Given the description of an element on the screen output the (x, y) to click on. 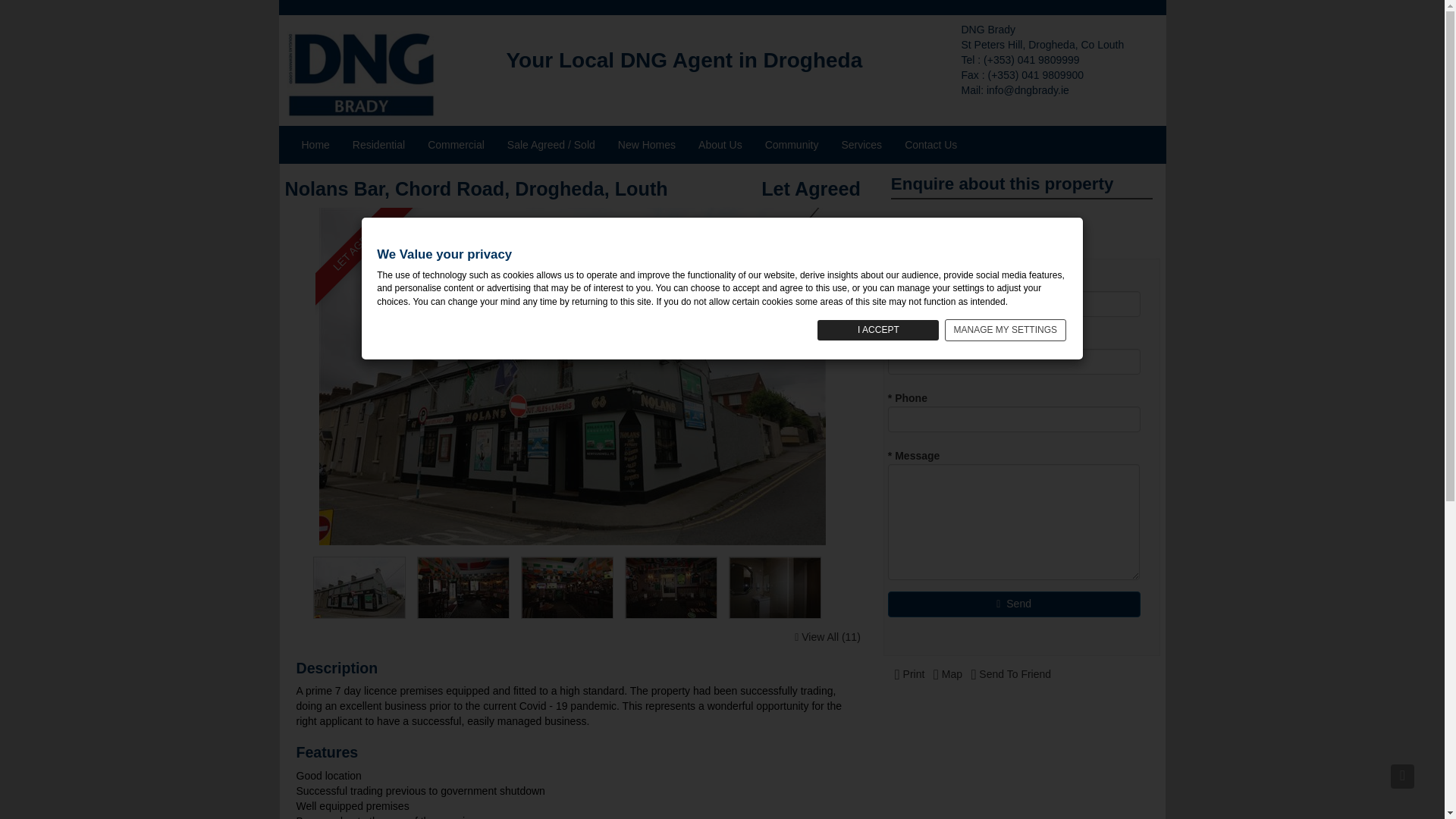
Map (947, 674)
Nolans Bar, Chord Road (775, 587)
DNG Brady (362, 73)
Image (780, 587)
Home (314, 144)
Services (861, 144)
Image (468, 587)
Nolans Bar, Chord Road (462, 587)
Nolans Bar, Chord Road (566, 587)
Contact Us (930, 144)
Residential (378, 144)
About Us (720, 144)
I ACCEPT (877, 330)
